Given the description of an element on the screen output the (x, y) to click on. 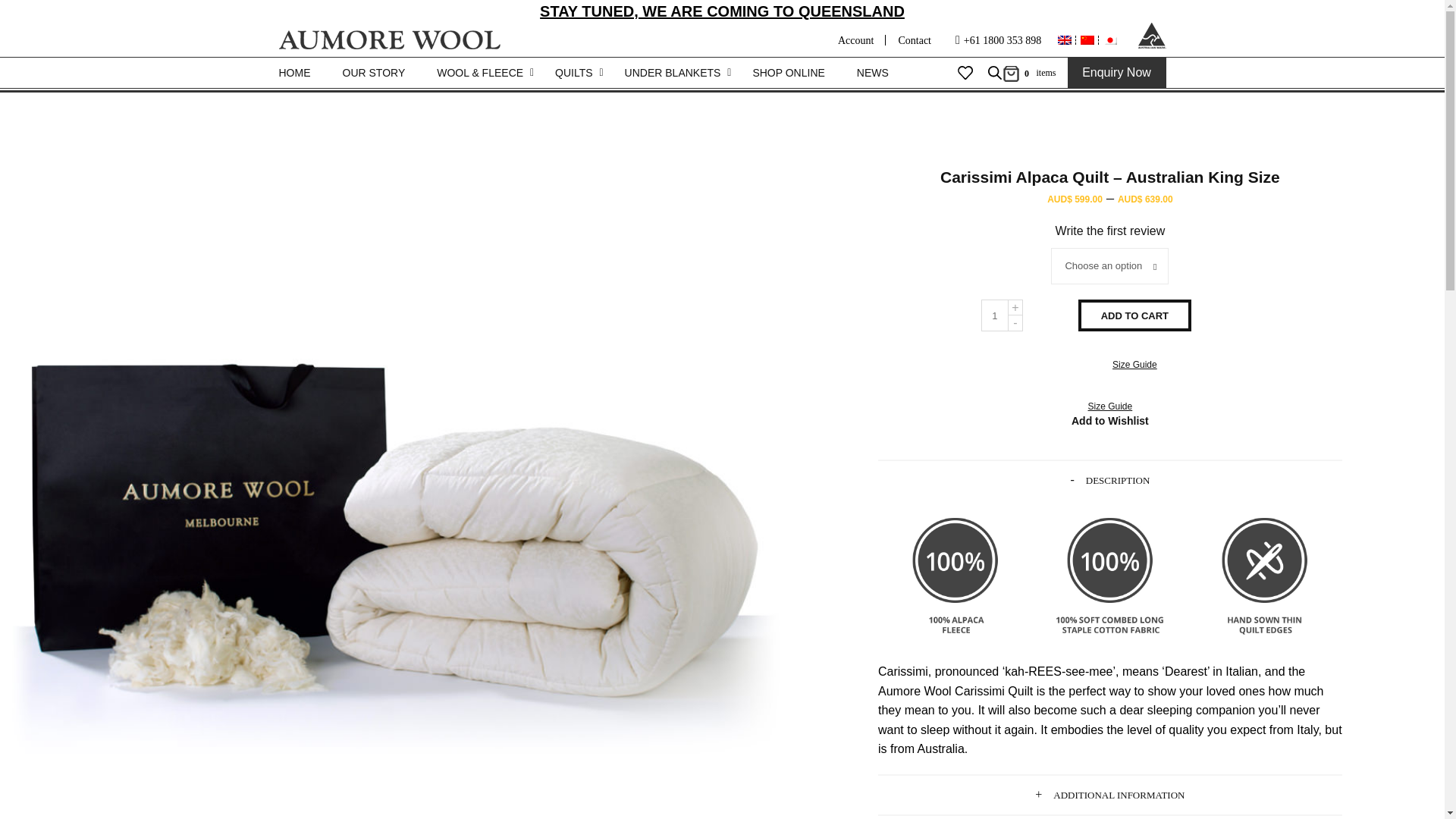
Contact (914, 40)
View your Cart (1027, 72)
OUR STORY (374, 72)
1 (995, 315)
- (1016, 323)
Account (855, 40)
HOME (295, 72)
Wishlist (964, 72)
